Given the description of an element on the screen output the (x, y) to click on. 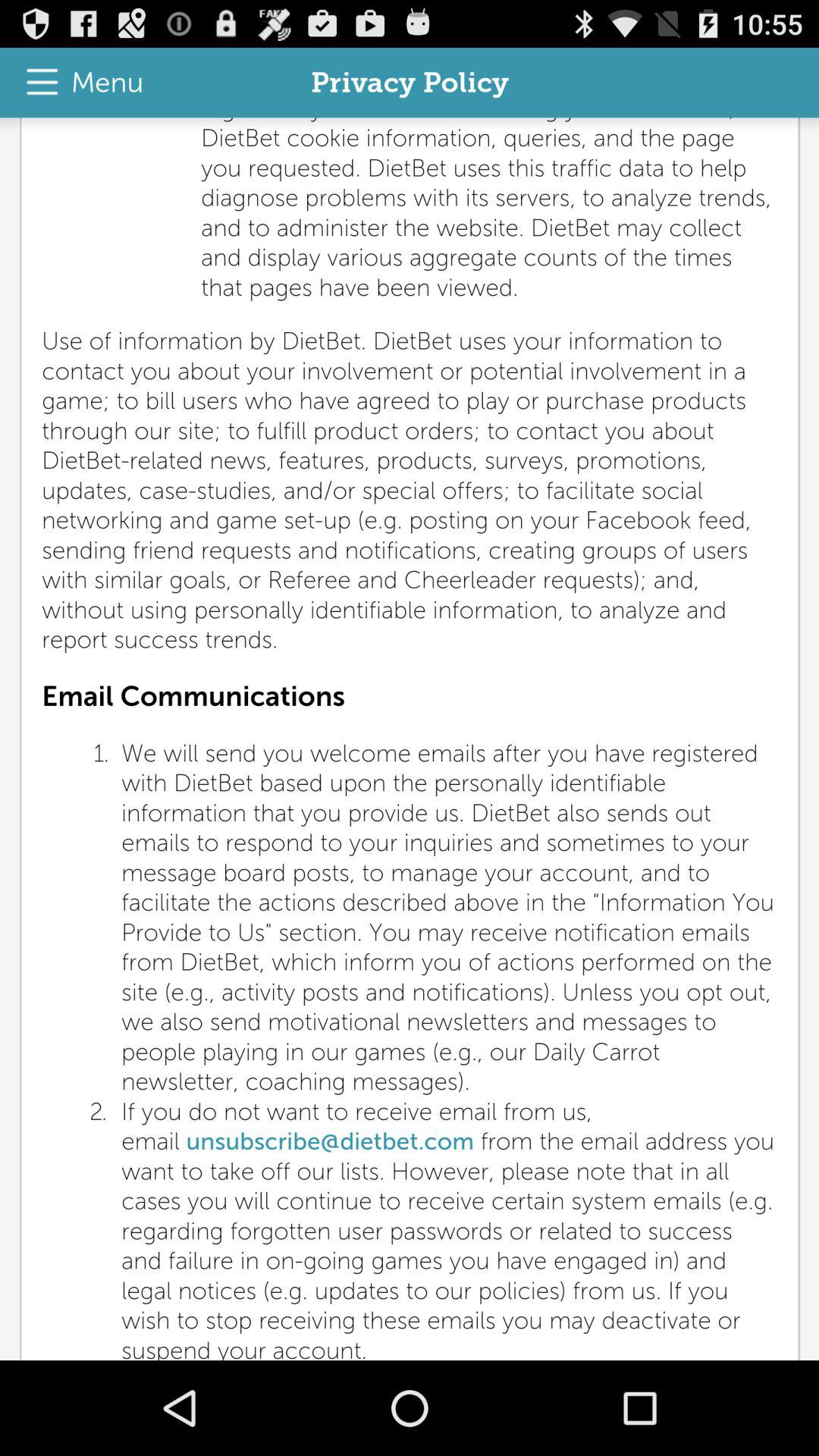
share the article (409, 738)
